Given the description of an element on the screen output the (x, y) to click on. 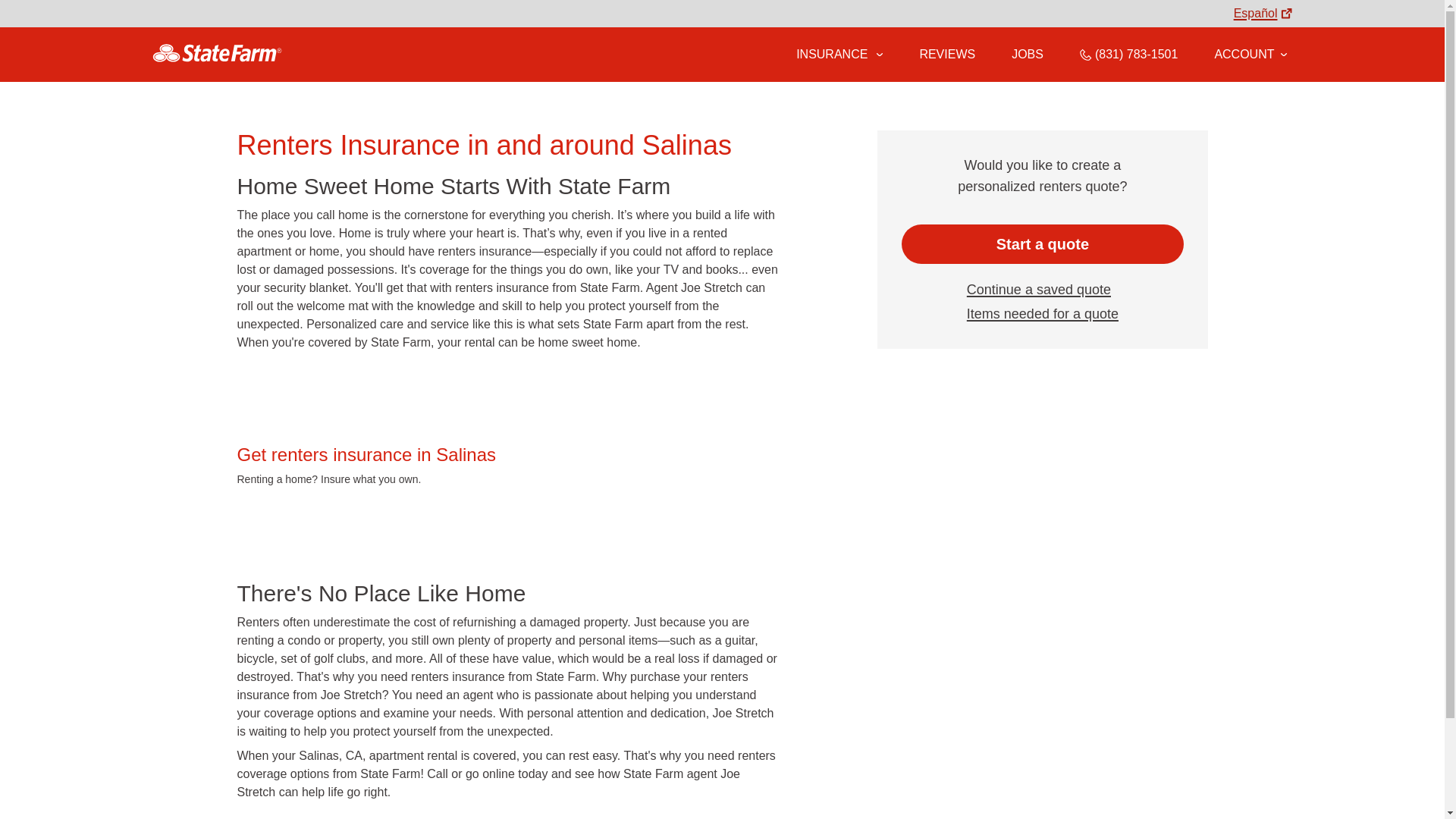
ACCOUNT (1250, 54)
JOBS (1027, 54)
Account Options (1250, 54)
REVIEWS (946, 54)
INSURANCE (830, 54)
Insurance (839, 54)
